Given the description of an element on the screen output the (x, y) to click on. 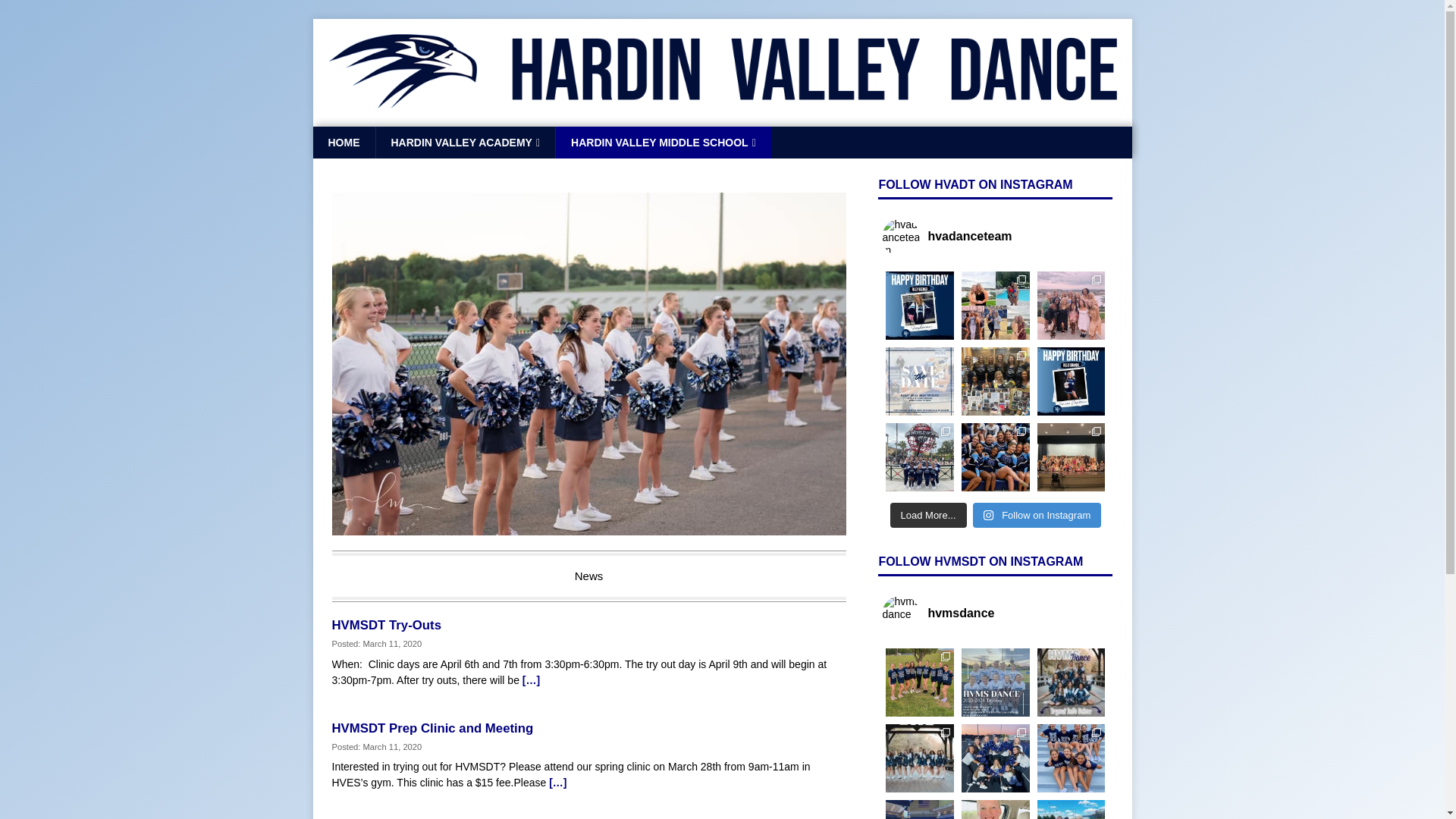
HVMSDT Try-Outs (531, 680)
HOME (343, 142)
HARDIN VALLEY ACADEMY (464, 142)
HVMSDT Try-Outs (386, 625)
HVMSDT Prep Clinic and Meeting (432, 728)
HARDIN VALLEY MIDDLE SCHOOL (662, 142)
HVMSDT Prep Clinic and Meeting (557, 782)
